Given the description of an element on the screen output the (x, y) to click on. 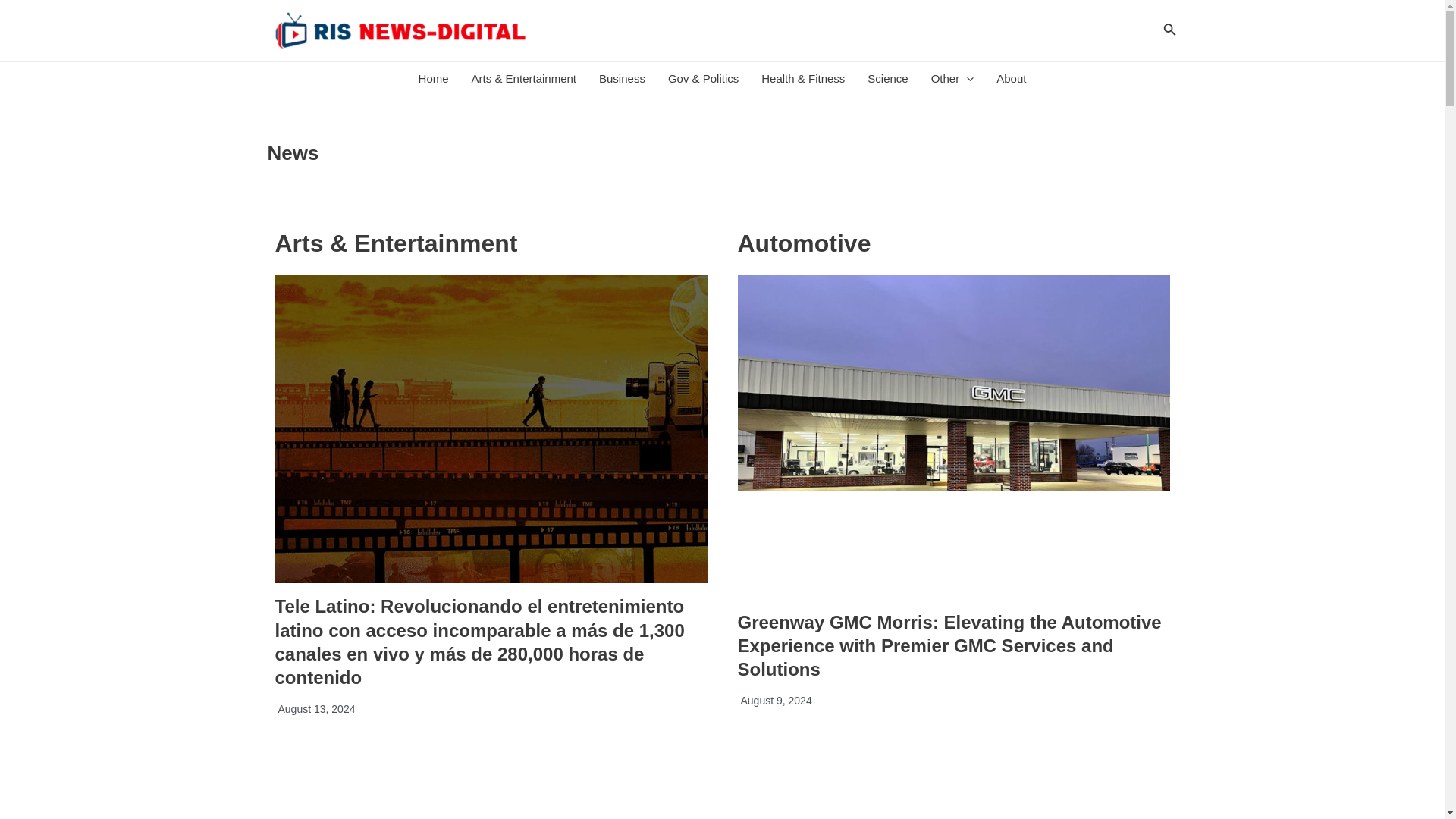
Other (952, 78)
About (1010, 78)
Home (433, 78)
Science (887, 78)
Business (622, 78)
